Given the description of an element on the screen output the (x, y) to click on. 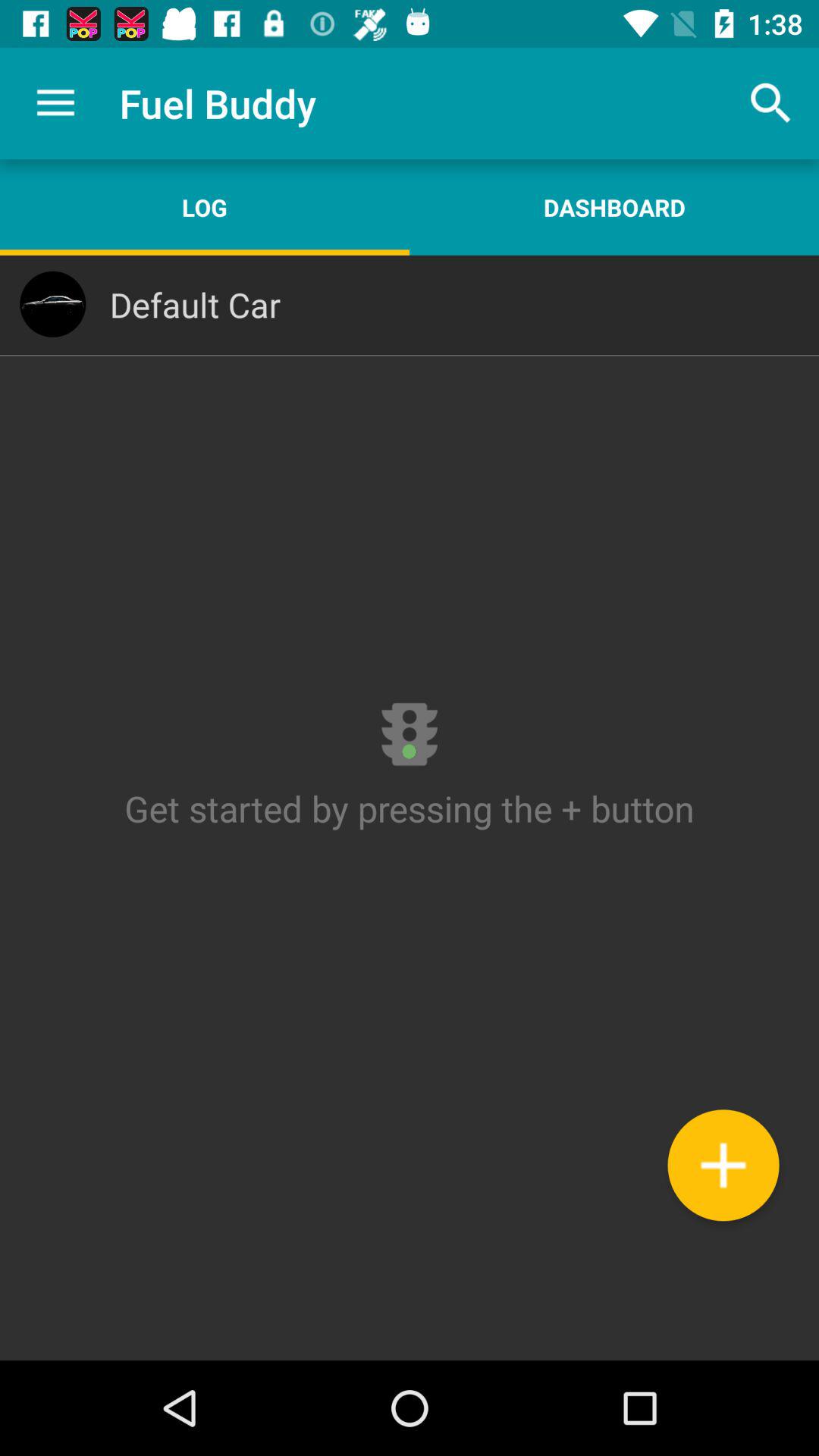
turn off the log (204, 207)
